Given the description of an element on the screen output the (x, y) to click on. 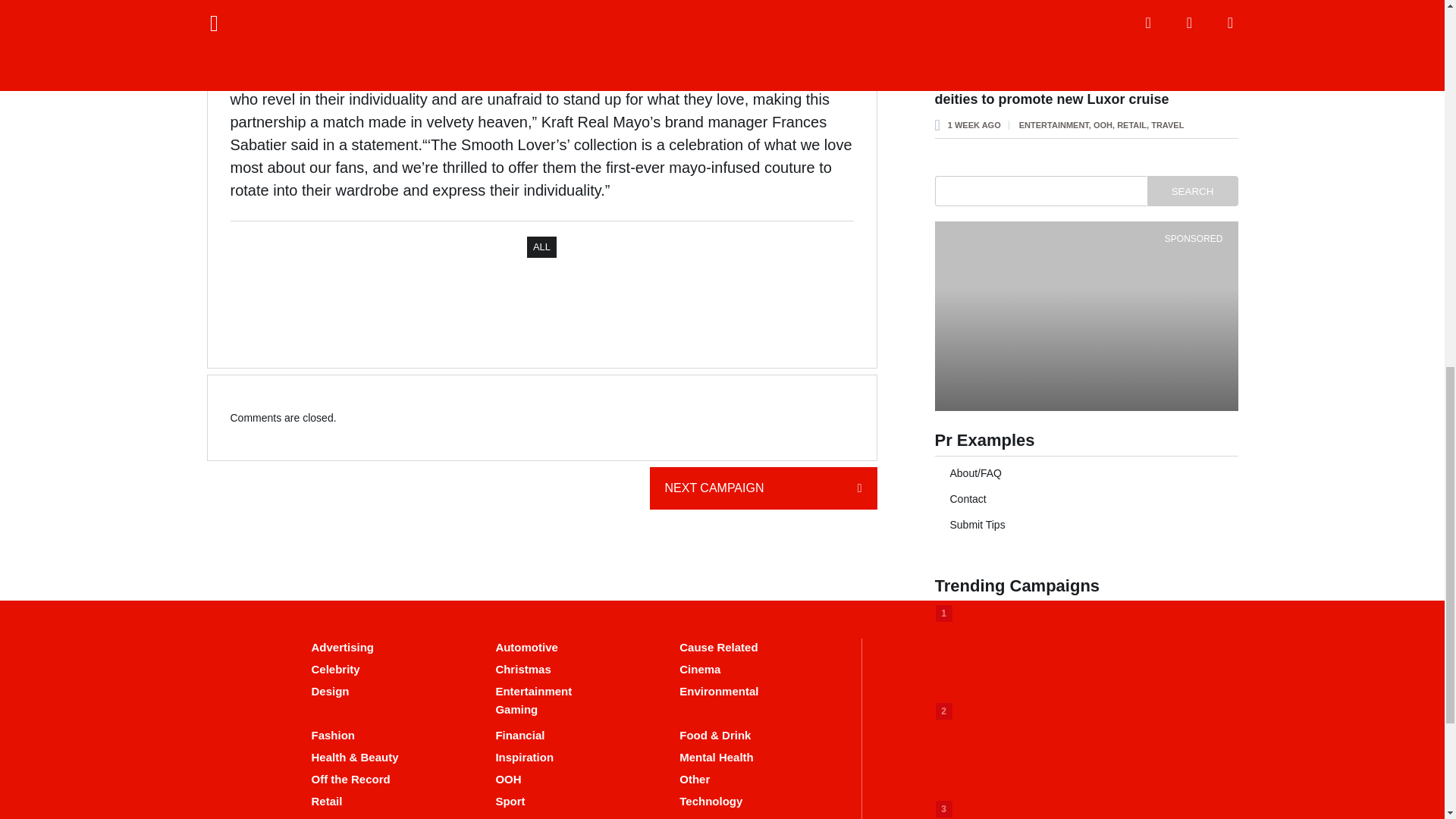
NEXT CAMPAIGN (762, 487)
ALL (541, 246)
Search (1192, 191)
